Given the description of an element on the screen output the (x, y) to click on. 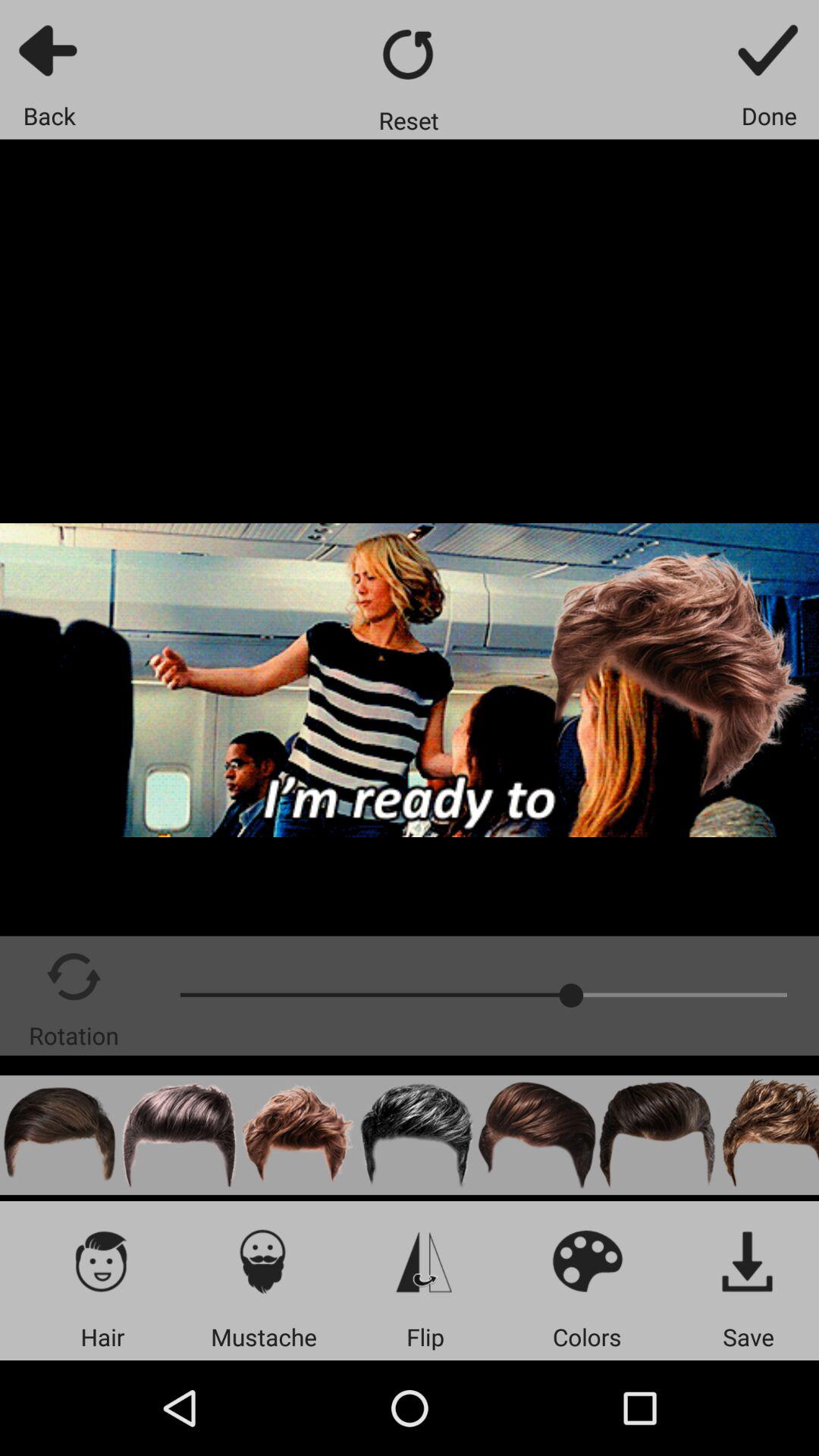
add to avatar (263, 1260)
